Given the description of an element on the screen output the (x, y) to click on. 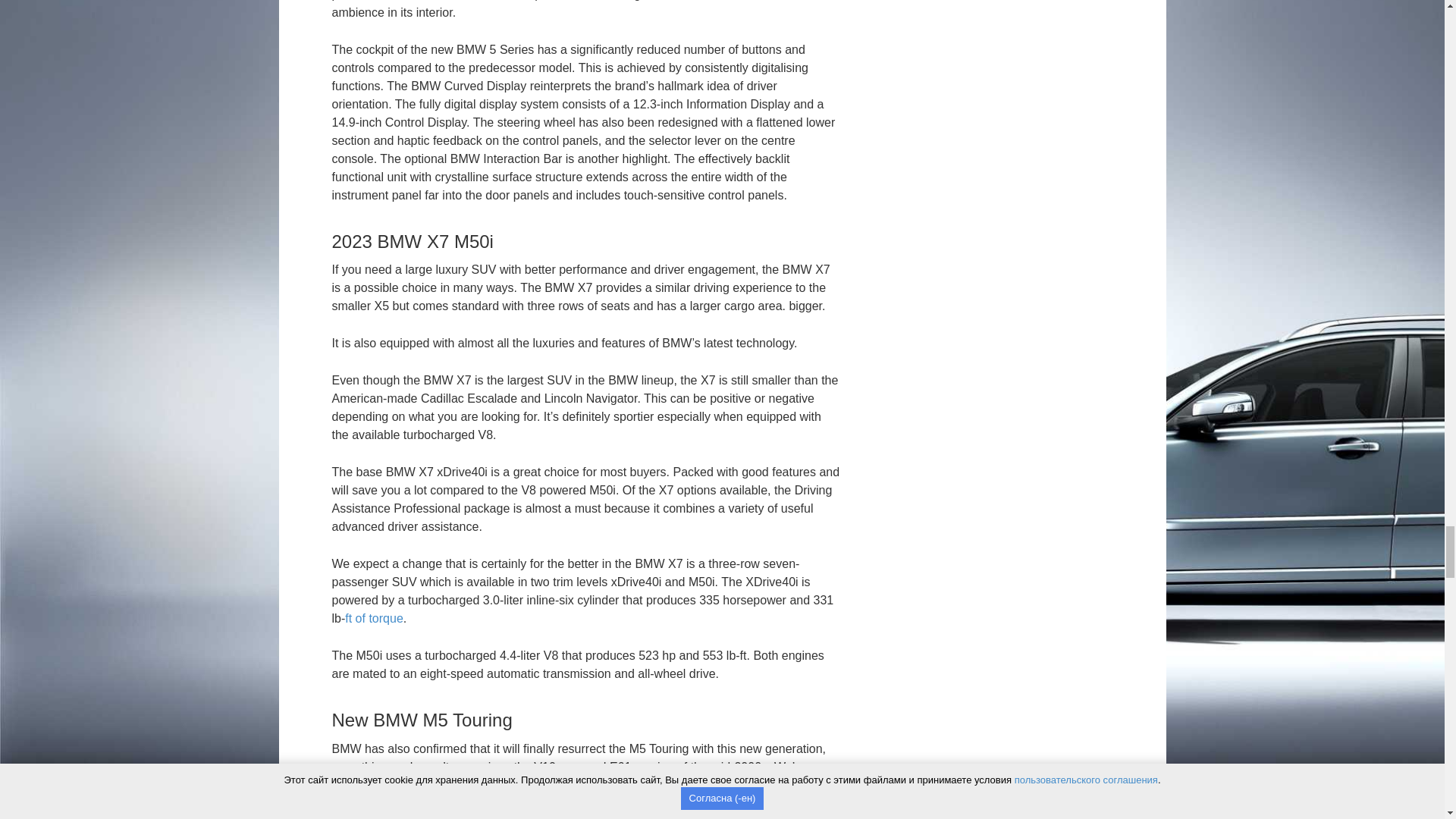
ft of torque (374, 617)
